Given the description of an element on the screen output the (x, y) to click on. 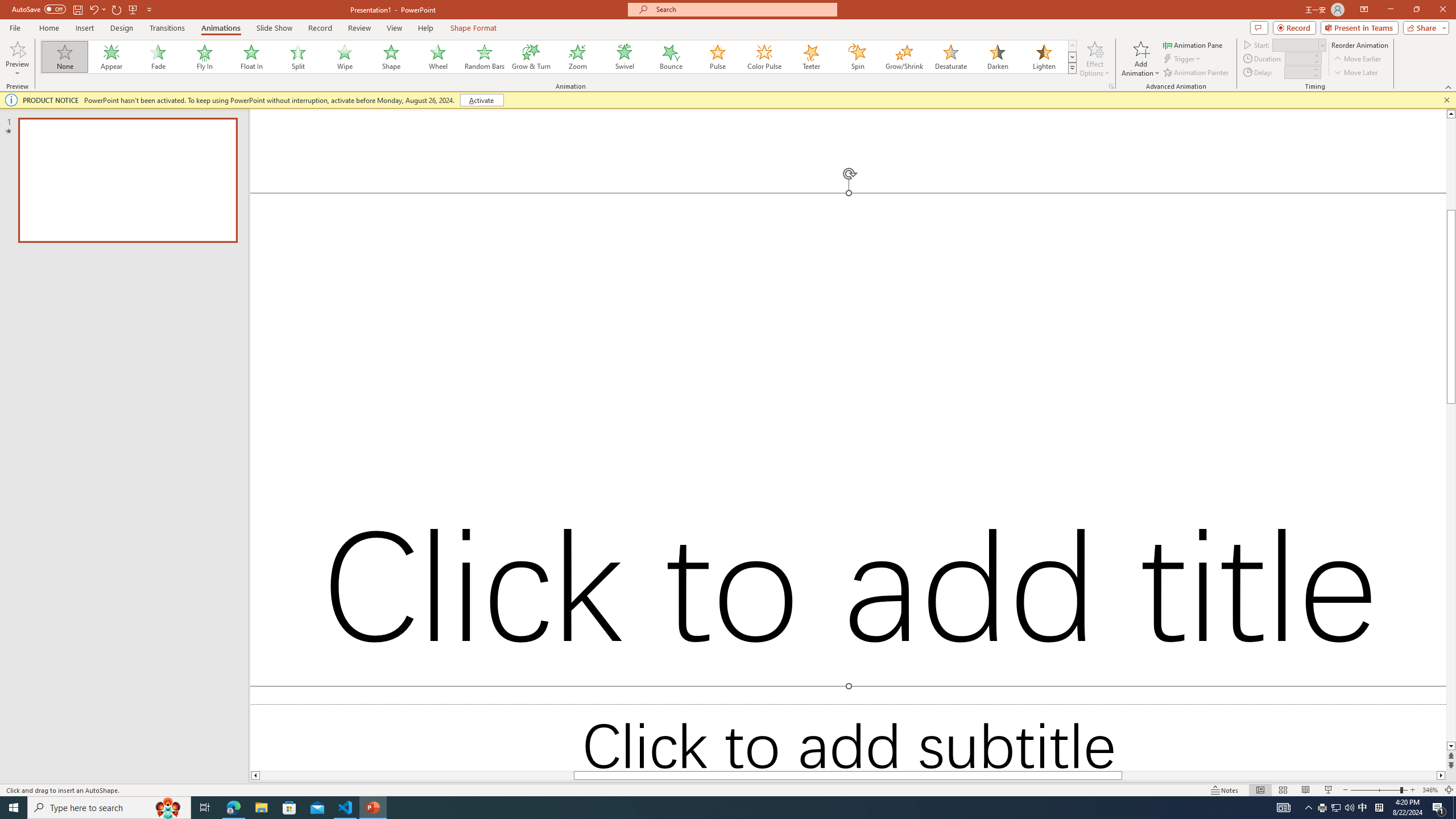
Animation Duration (1298, 58)
Add Animation (1141, 58)
Wipe (344, 56)
Pulse (717, 56)
Move Later (1355, 72)
Fly In (205, 56)
Fade (158, 56)
